Given the description of an element on the screen output the (x, y) to click on. 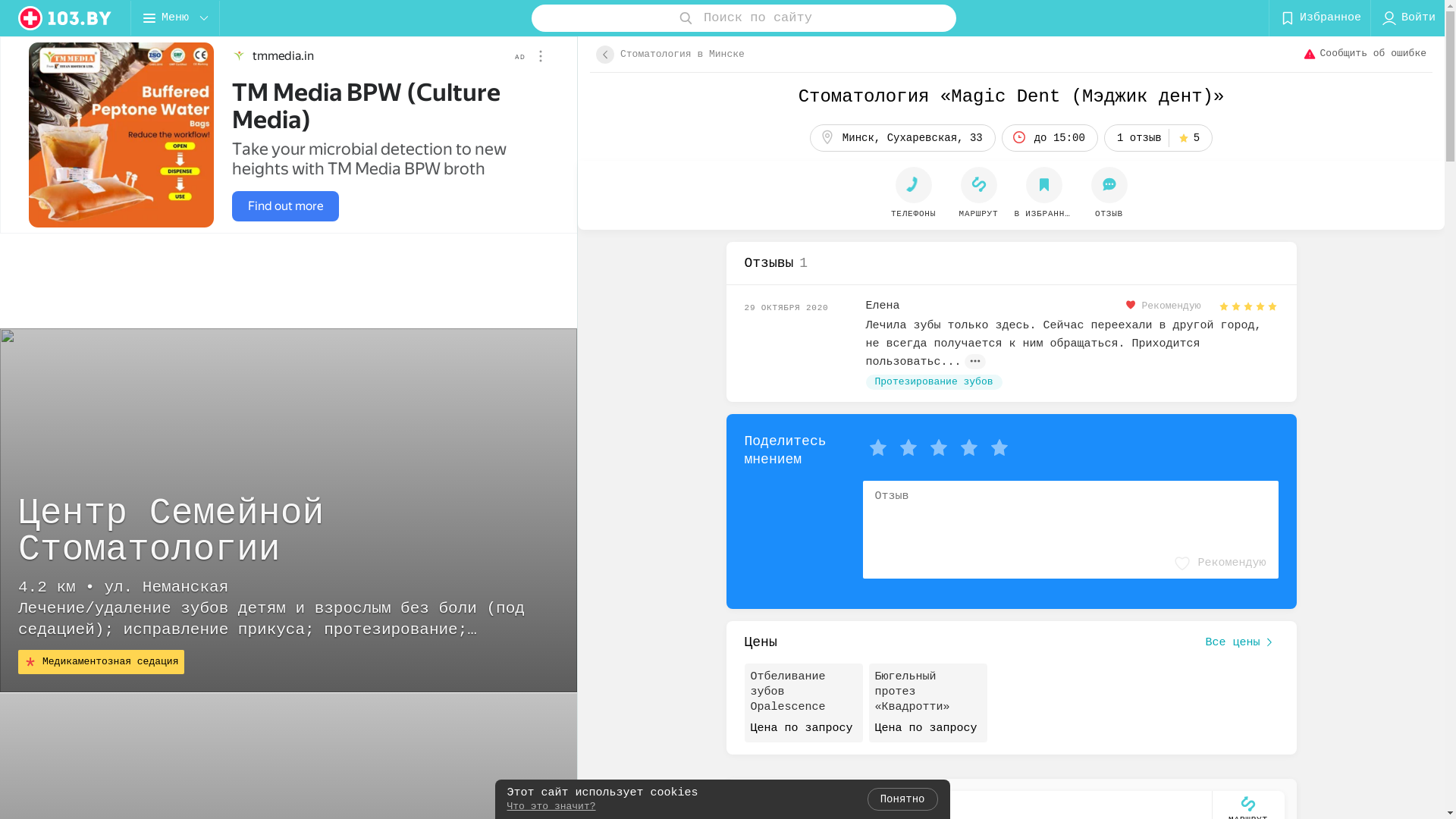
logo Element type: hover (65, 18)
